Given the description of an element on the screen output the (x, y) to click on. 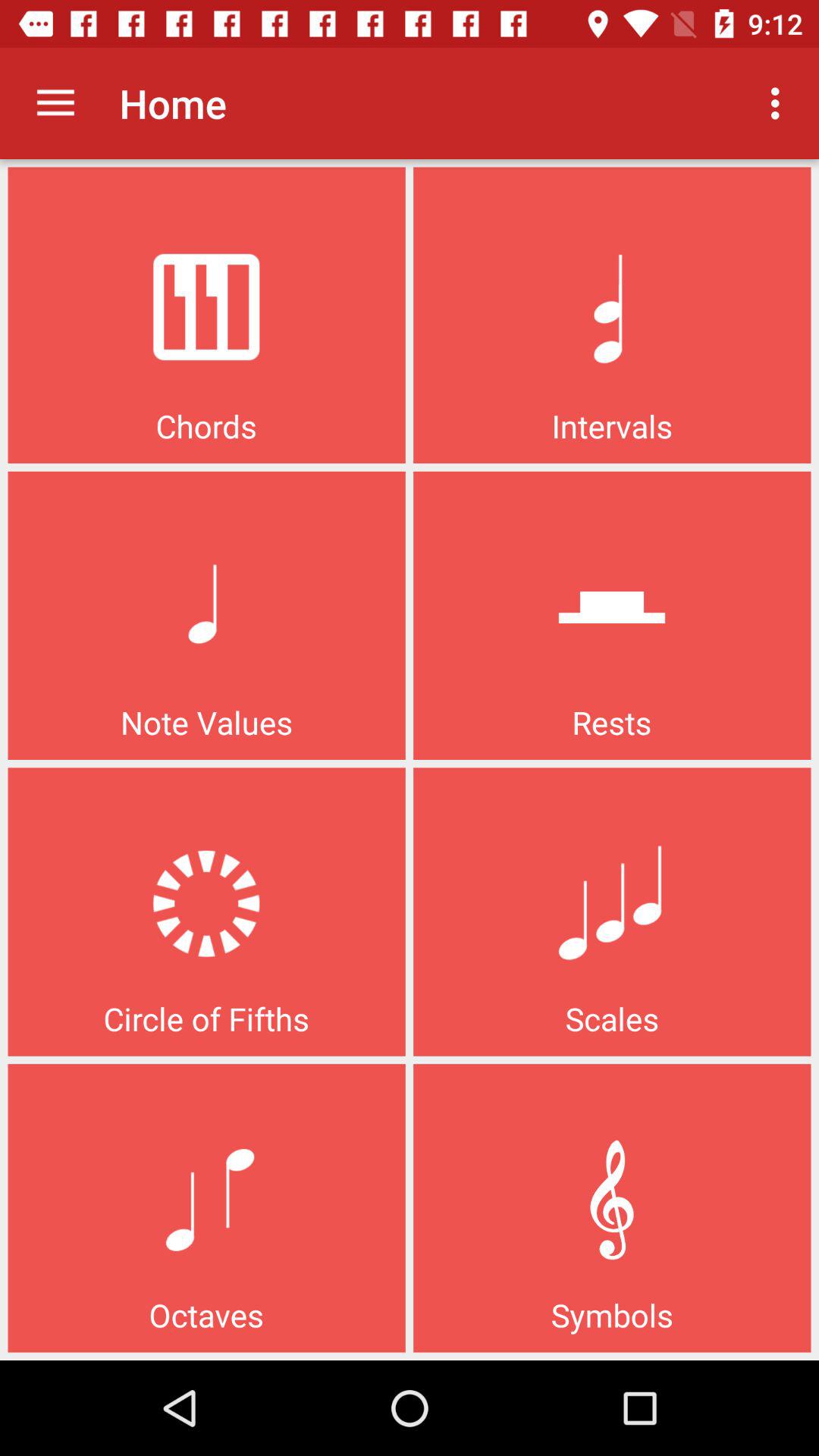
turn off the app to the left of home app (55, 103)
